Given the description of an element on the screen output the (x, y) to click on. 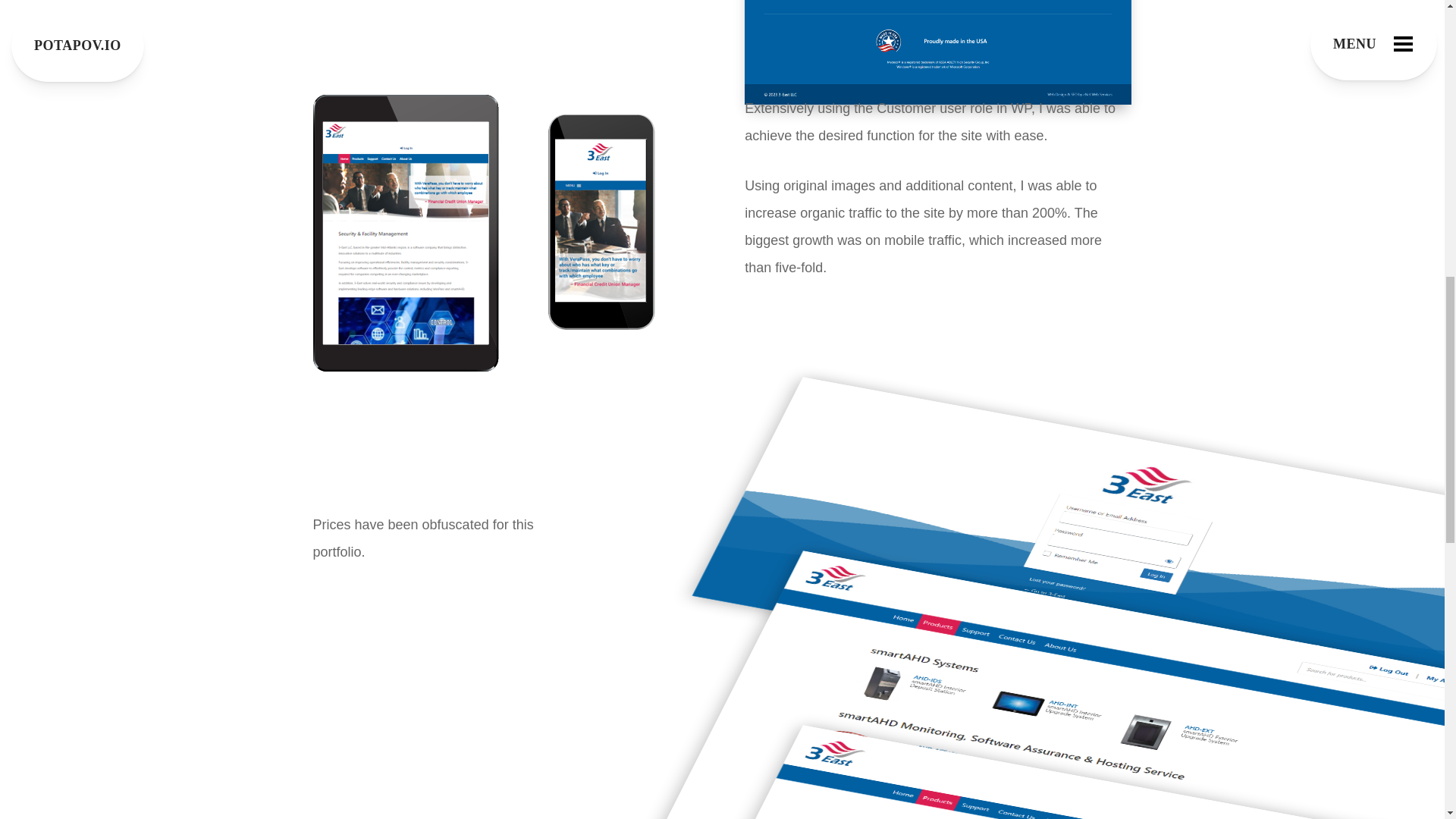
screencapture-3-east-desktop (937, 52)
